Given the description of an element on the screen output the (x, y) to click on. 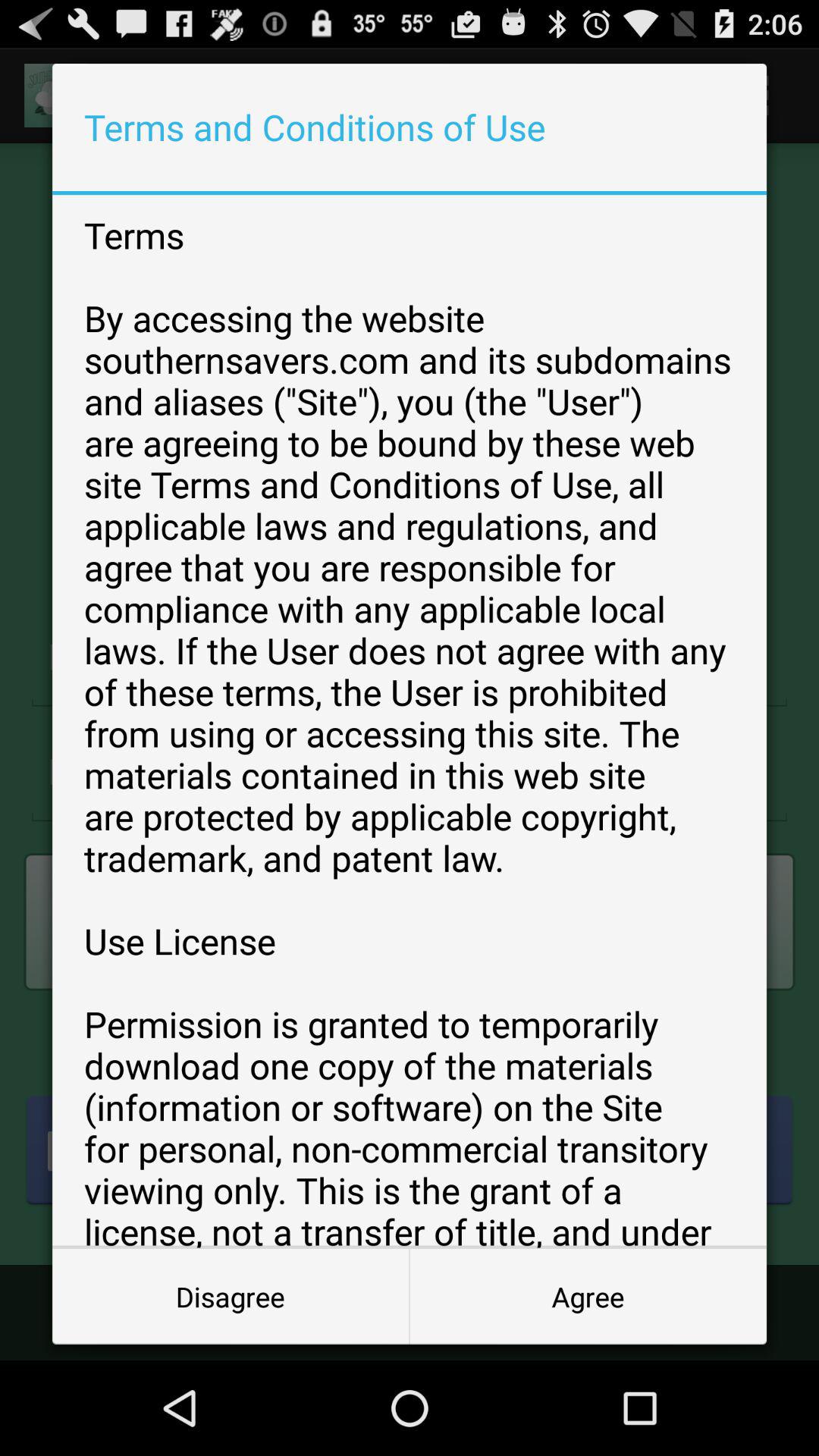
press the agree (588, 1296)
